Given the description of an element on the screen output the (x, y) to click on. 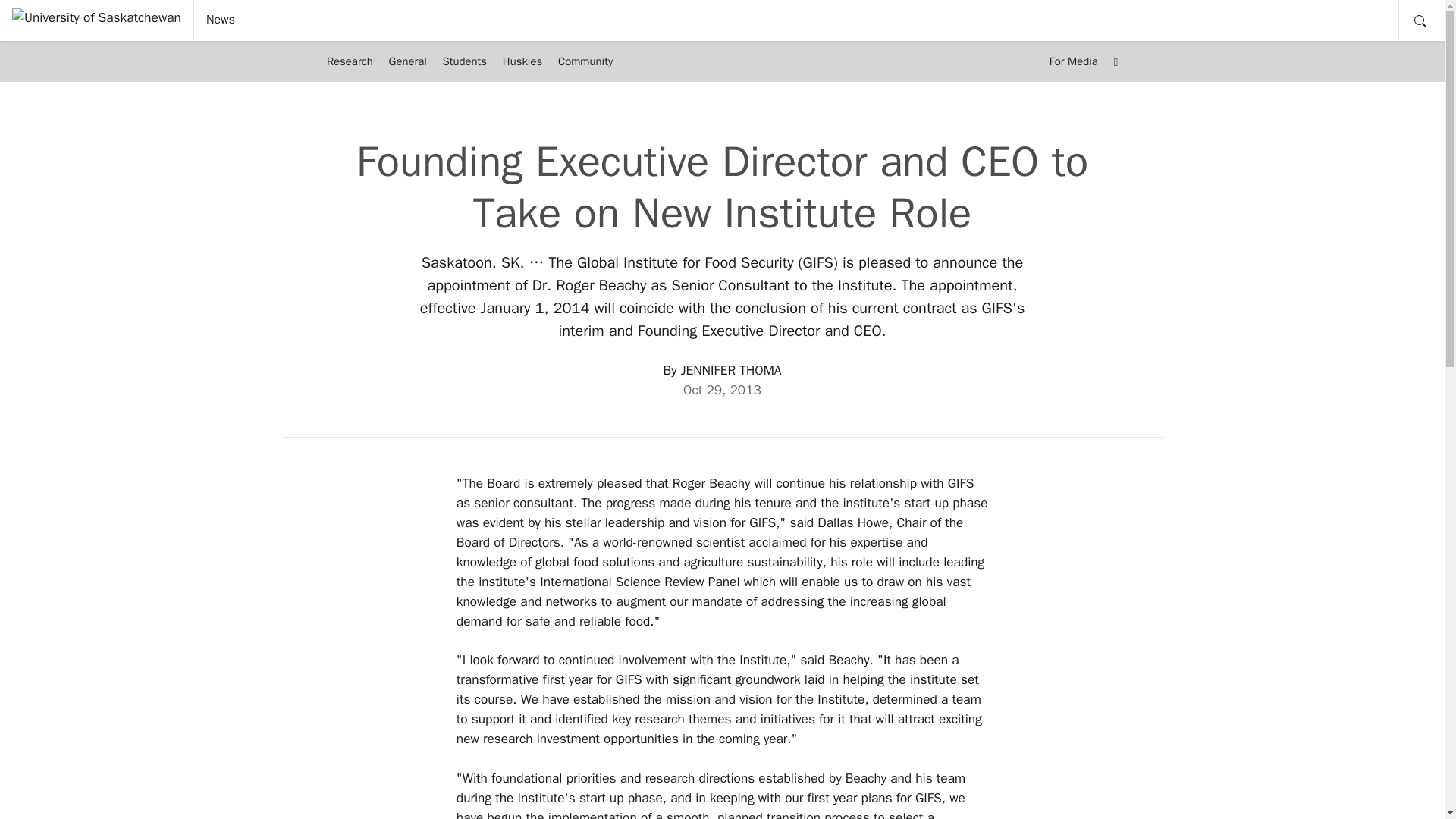
General (406, 60)
For Media (1073, 60)
Community (585, 60)
Huskies (522, 60)
Students (464, 60)
News (220, 20)
Research (349, 60)
